Given the description of an element on the screen output the (x, y) to click on. 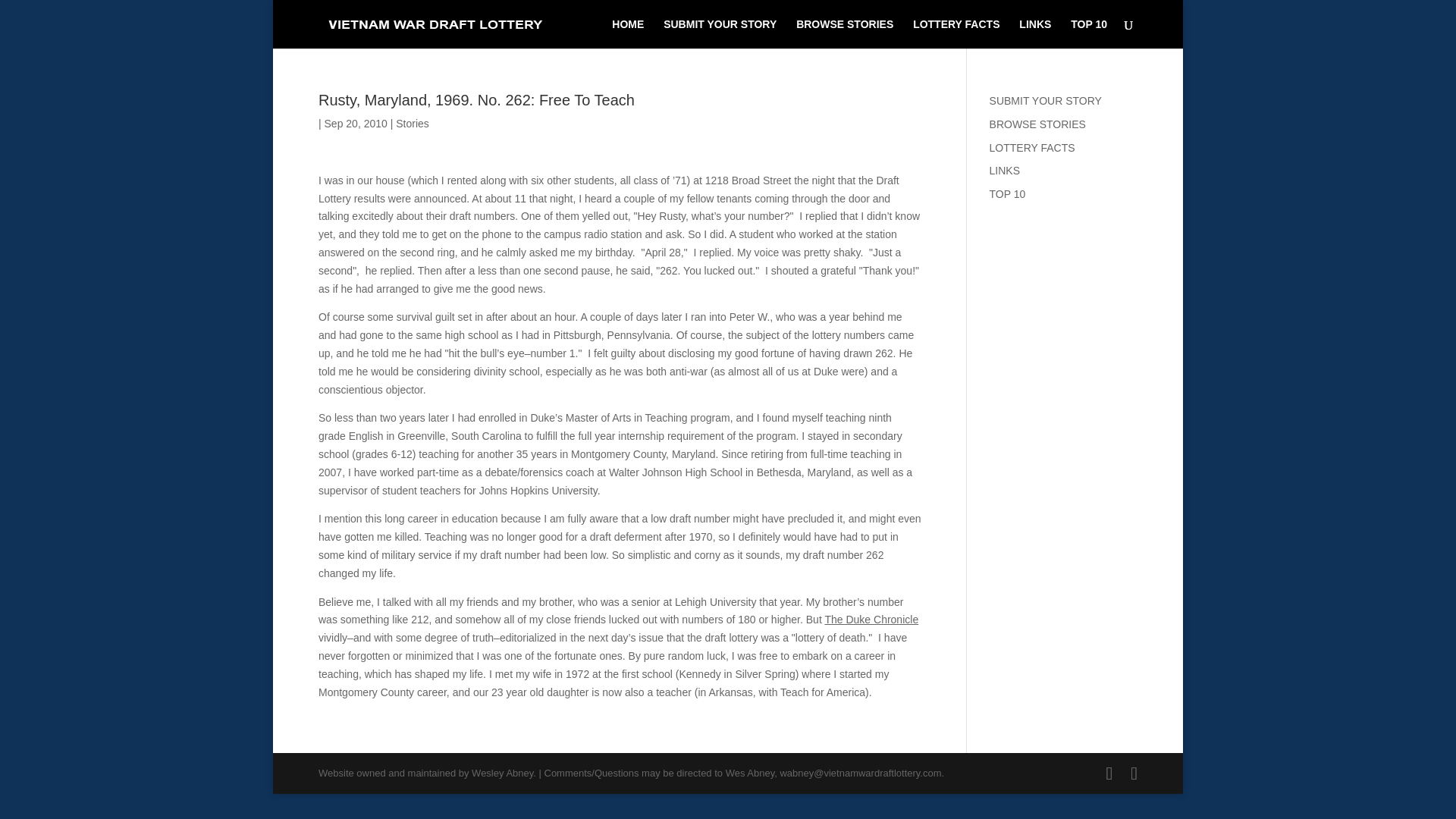
BROWSE STORIES (1038, 123)
LOTTERY FACTS (1032, 147)
LOTTERY FACTS (955, 33)
BROWSE STORIES (844, 33)
HOME (627, 33)
LINKS (1035, 33)
TOP 10 (1088, 33)
TOP 10 (1008, 193)
SUBMIT YOUR STORY (1046, 101)
SUBMIT YOUR STORY (719, 33)
